Given the description of an element on the screen output the (x, y) to click on. 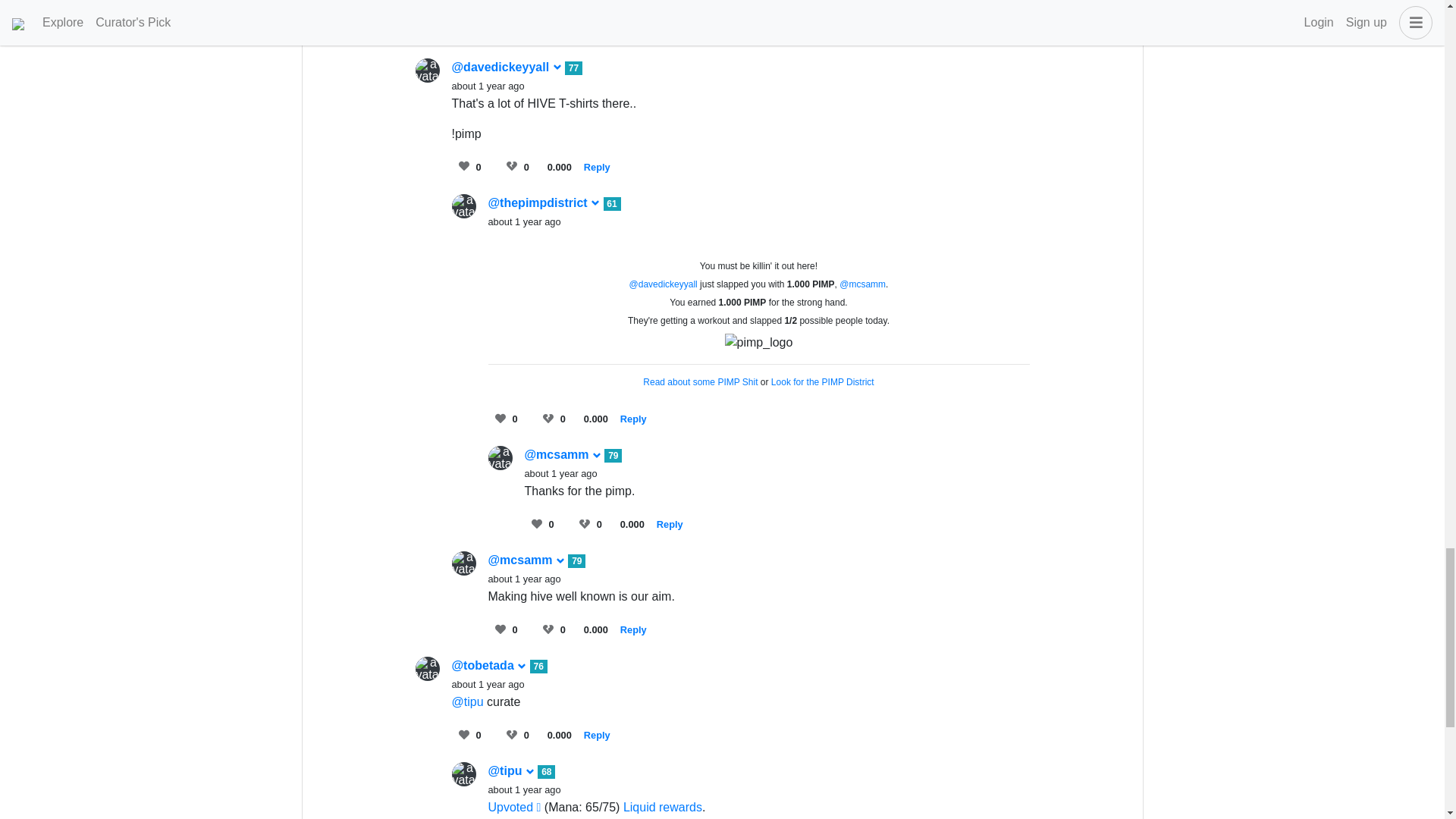
This link will take you away from the app (700, 381)
This link will take you away from the app (662, 807)
This link will take you away from the app (823, 381)
This link will take you away from the app (514, 807)
